Given the description of an element on the screen output the (x, y) to click on. 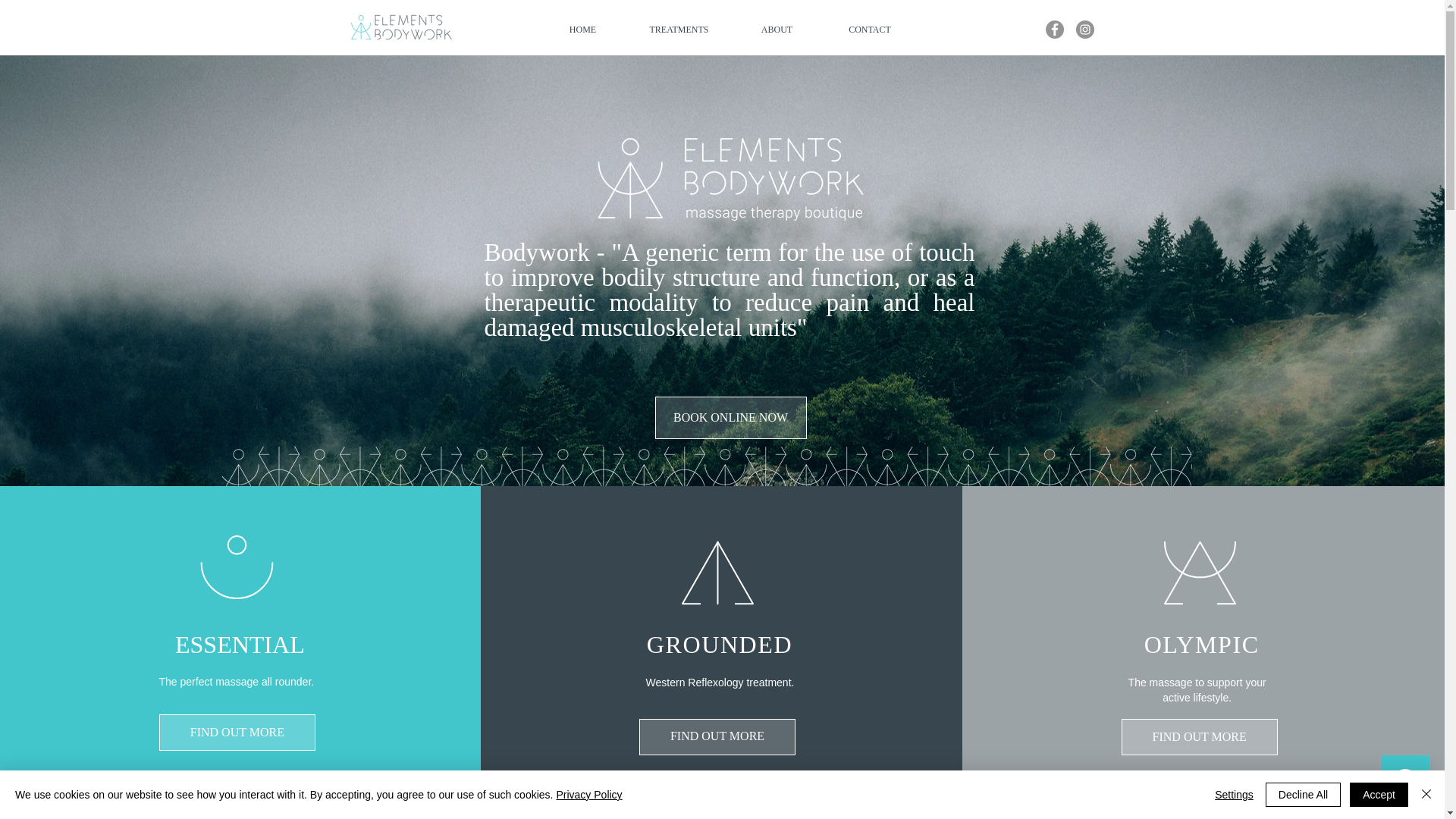
BOOK ONLINE NOW (730, 417)
Decline All (1302, 794)
CONTACT (869, 29)
FIND OUT MORE (236, 732)
TREATMENTS (678, 29)
FIND OUT MORE (716, 737)
Accept (1378, 794)
FIND OUT MORE (1199, 737)
Privacy Policy (588, 794)
ABOUT (776, 29)
HOME (582, 29)
